Given the description of an element on the screen output the (x, y) to click on. 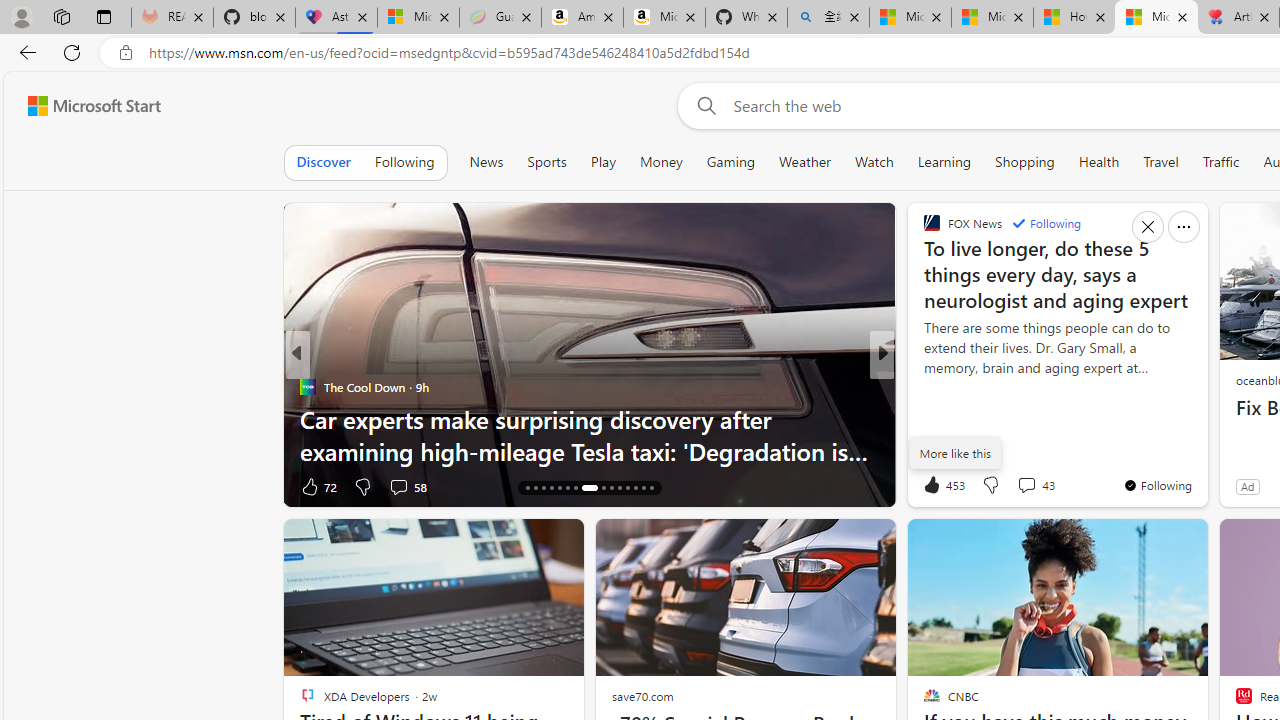
AutomationID: tab-22 (574, 487)
AutomationID: tab-19 (550, 487)
The Register (307, 386)
View comments 496 Comment (1013, 485)
AutomationID: tab-20 (559, 487)
AutomationID: tab-25 (610, 487)
6 Like (930, 486)
View comments 3 Comment (397, 486)
